Given the description of an element on the screen output the (x, y) to click on. 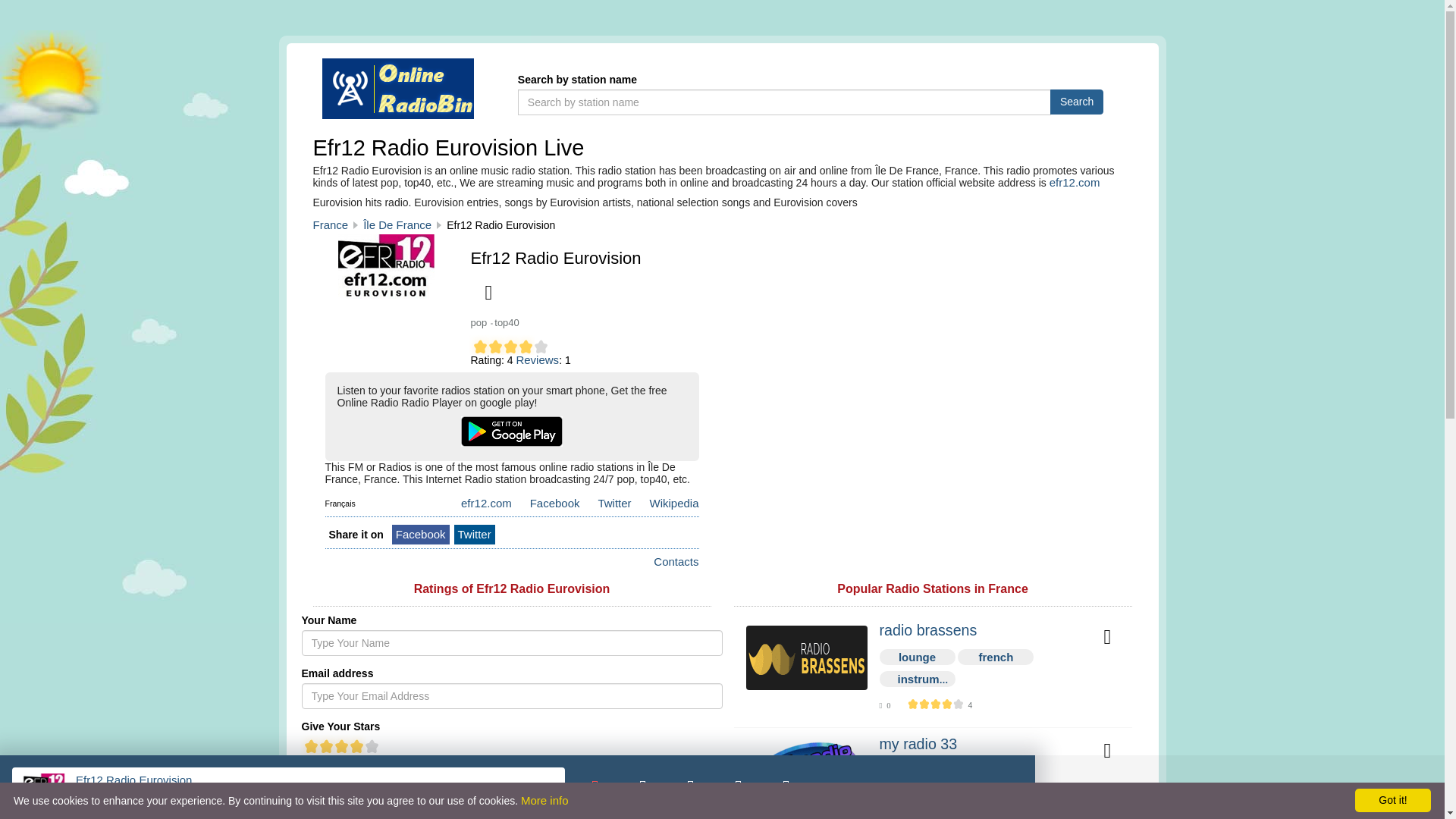
efr12.com (485, 497)
french (995, 657)
Twitter (475, 533)
Get it on Google Play (511, 431)
dance (917, 770)
pop (996, 770)
my radio 33 (981, 744)
my radio 33 (806, 771)
radio brassens (981, 630)
lounge (917, 657)
